Given the description of an element on the screen output the (x, y) to click on. 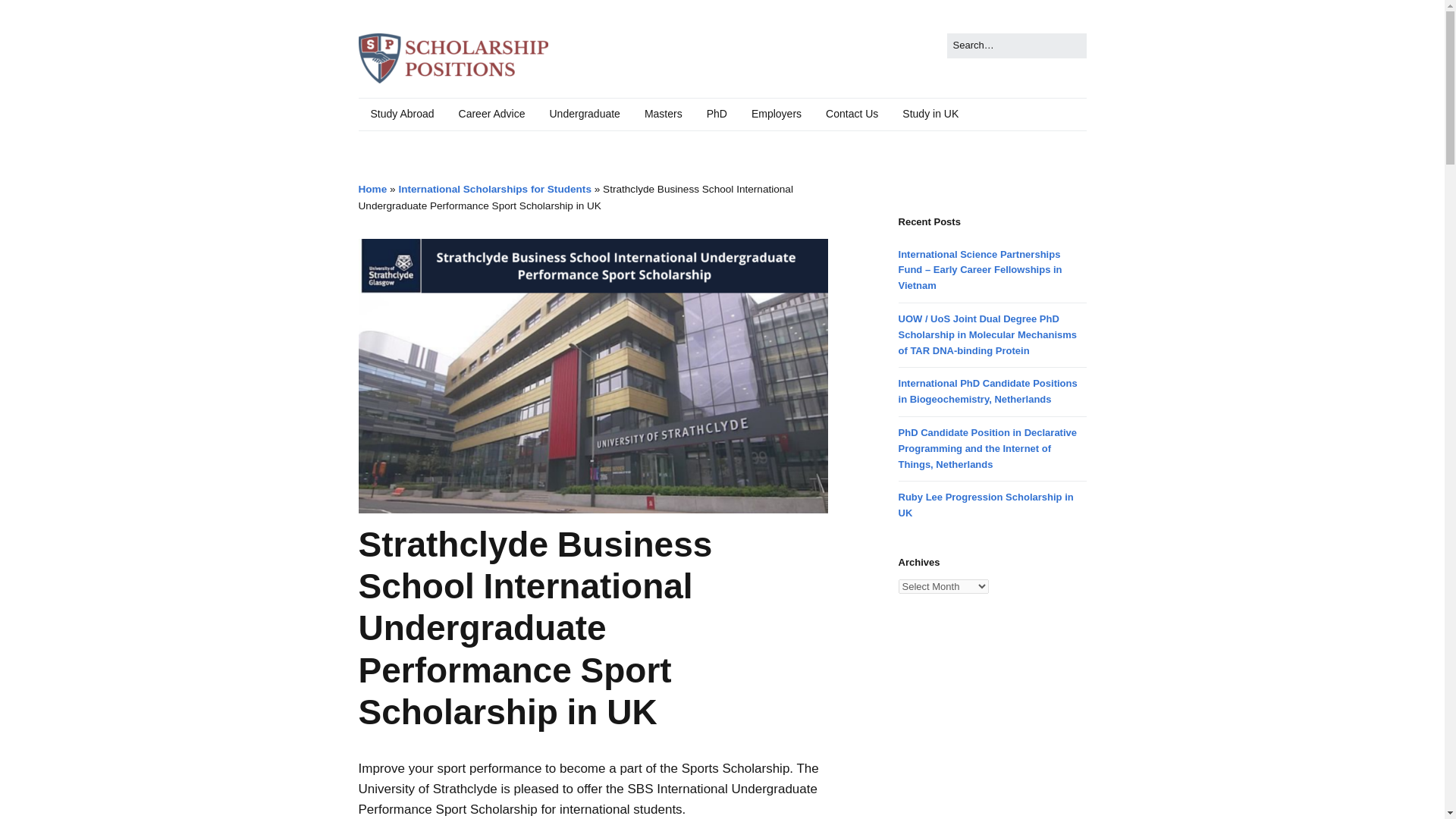
Search (29, 15)
PhD Scholarships (716, 114)
Home (372, 188)
International Scholarships for Students (494, 188)
Contact Us (851, 114)
Masters (662, 114)
Undergraduate Scholarships (584, 114)
Study Abroad (401, 114)
Career Advice (491, 114)
Study in UK (930, 114)
Employers (776, 114)
PhD (716, 114)
Press Enter to submit your search (1016, 45)
Undergraduate (584, 114)
Masters Scholarships (662, 114)
